Given the description of an element on the screen output the (x, y) to click on. 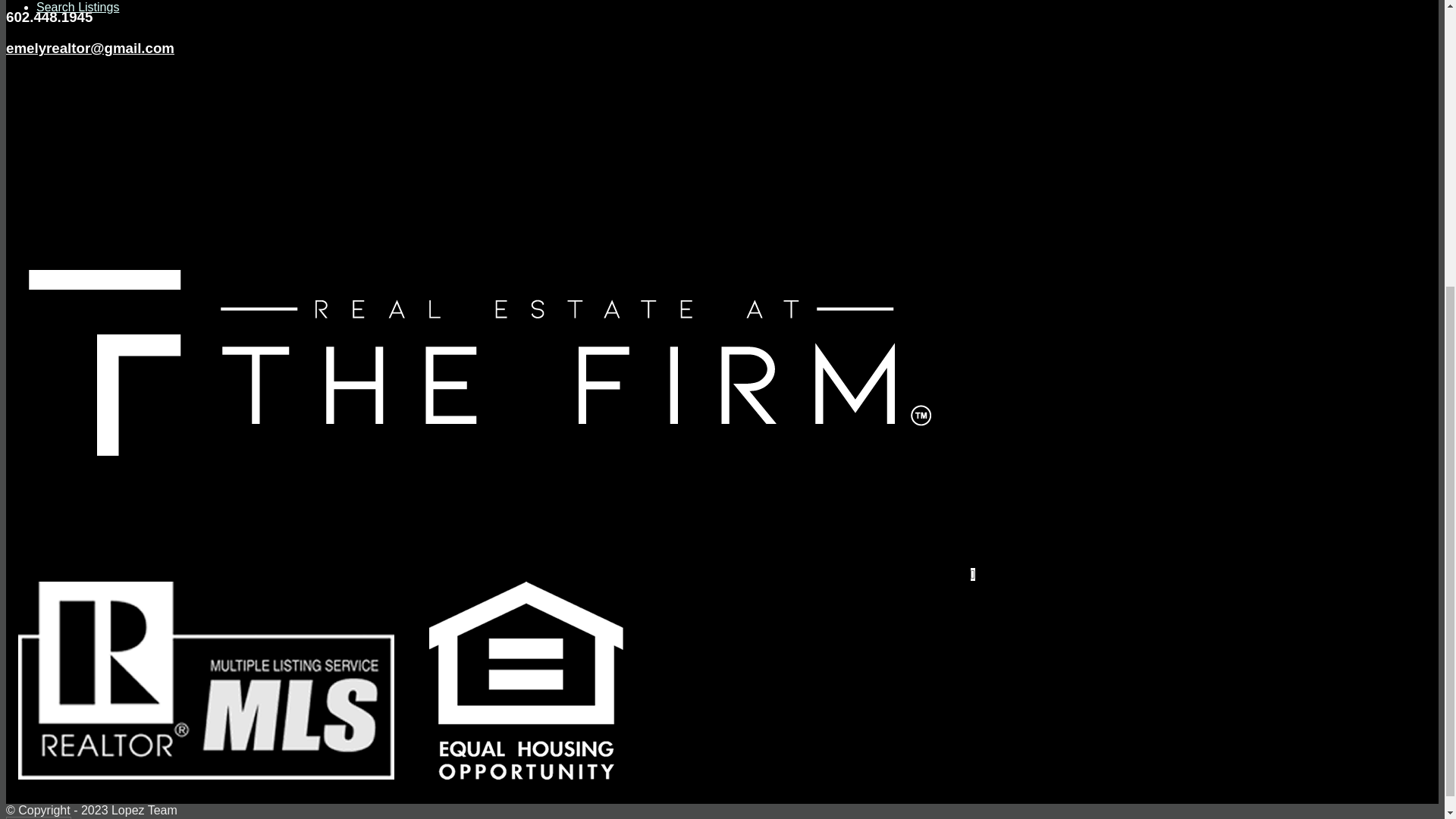
Search Listings (77, 6)
Menu Menu (68, 320)
Search (55, 215)
Home Valuation (79, 111)
